Given the description of an element on the screen output the (x, y) to click on. 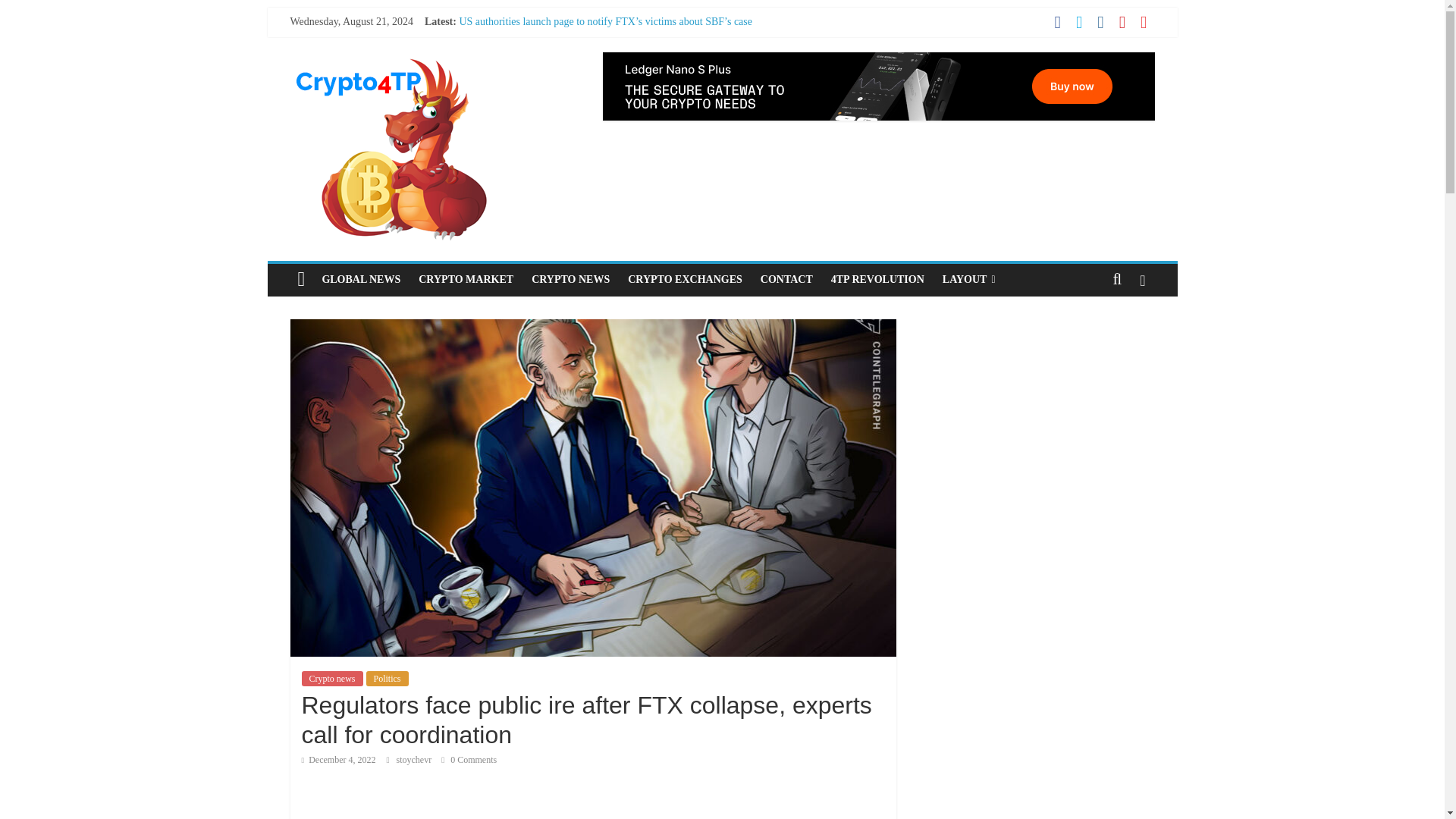
CRYPTO NEWS (570, 279)
CONTACT (786, 279)
December 4, 2022 (338, 759)
Fidelity downsizes value of its Twitter holdings (559, 89)
Fidelity downsizes value of its Twitter holdings (559, 89)
stoychevr (414, 759)
0 Comments (468, 759)
